Given the description of an element on the screen output the (x, y) to click on. 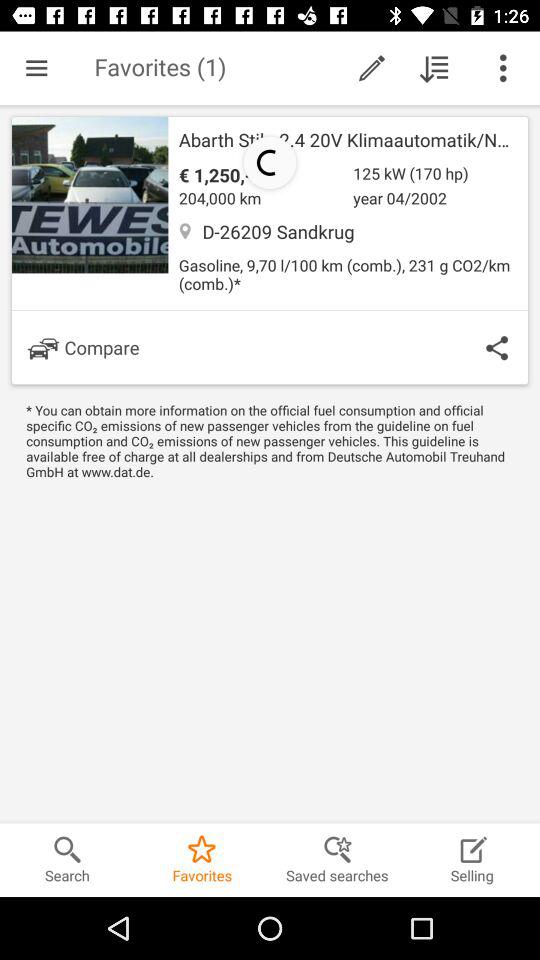
downloded the file (434, 67)
